Given the description of an element on the screen output the (x, y) to click on. 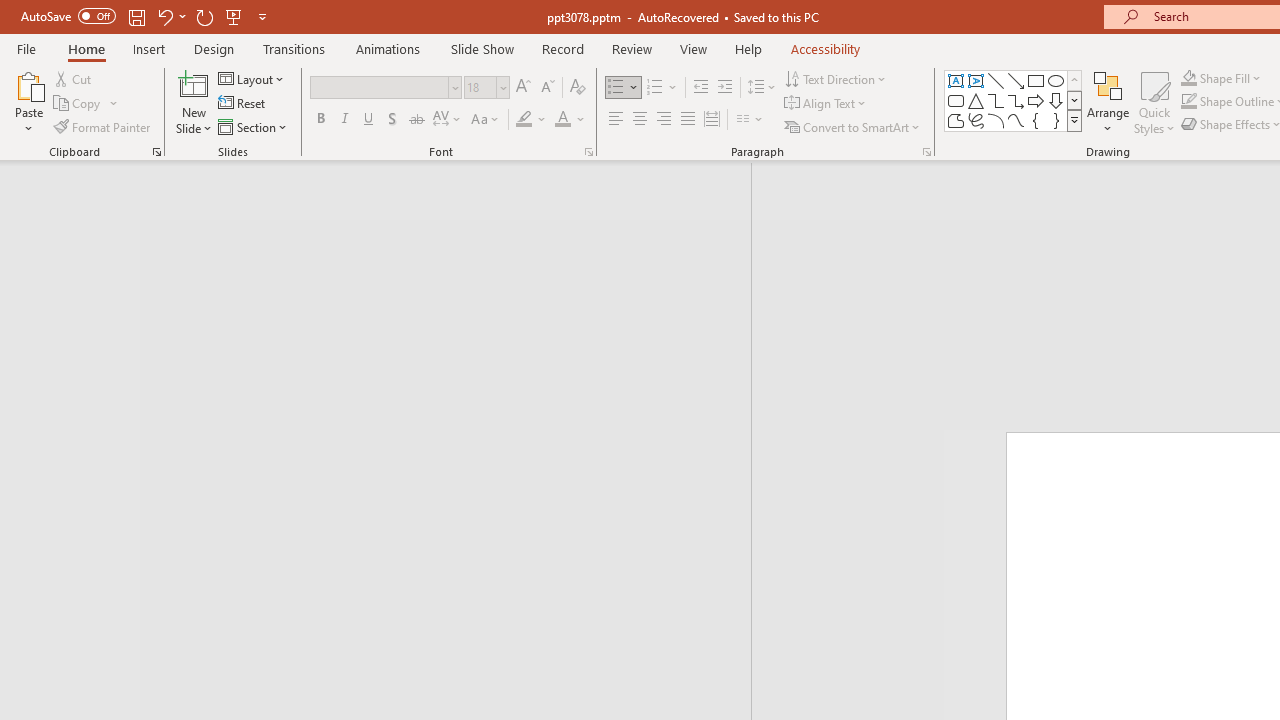
Section (254, 126)
Strikethrough (416, 119)
Align Right (663, 119)
Text Highlight Color (531, 119)
Line Arrow (1016, 80)
Reset (243, 103)
Quick Styles (1154, 102)
Font (379, 87)
Arrow: Right (1035, 100)
Distributed (712, 119)
Paste (28, 102)
Numbering (654, 87)
